Given the description of an element on the screen output the (x, y) to click on. 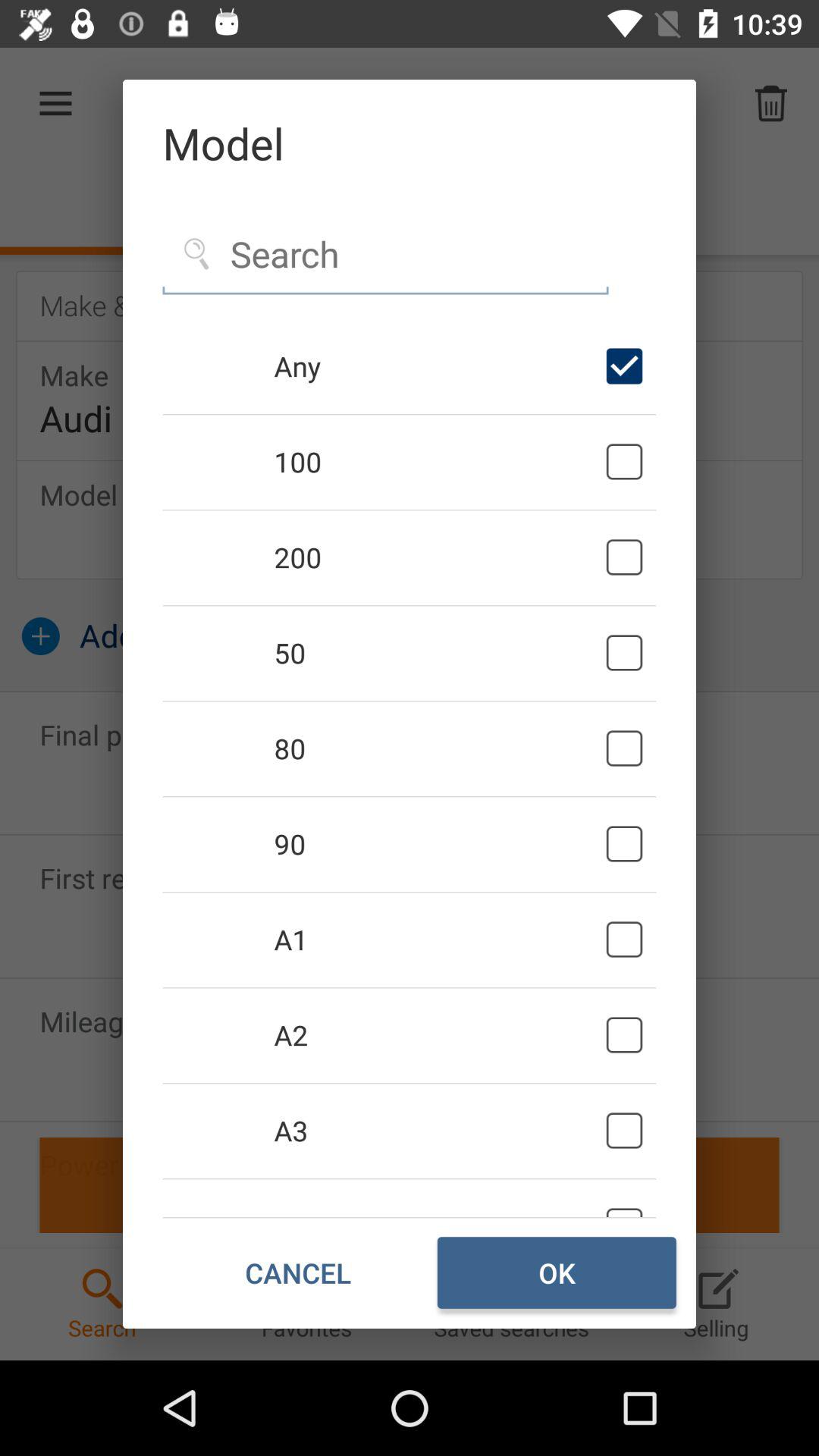
open icon above 200 item (437, 461)
